Given the description of an element on the screen output the (x, y) to click on. 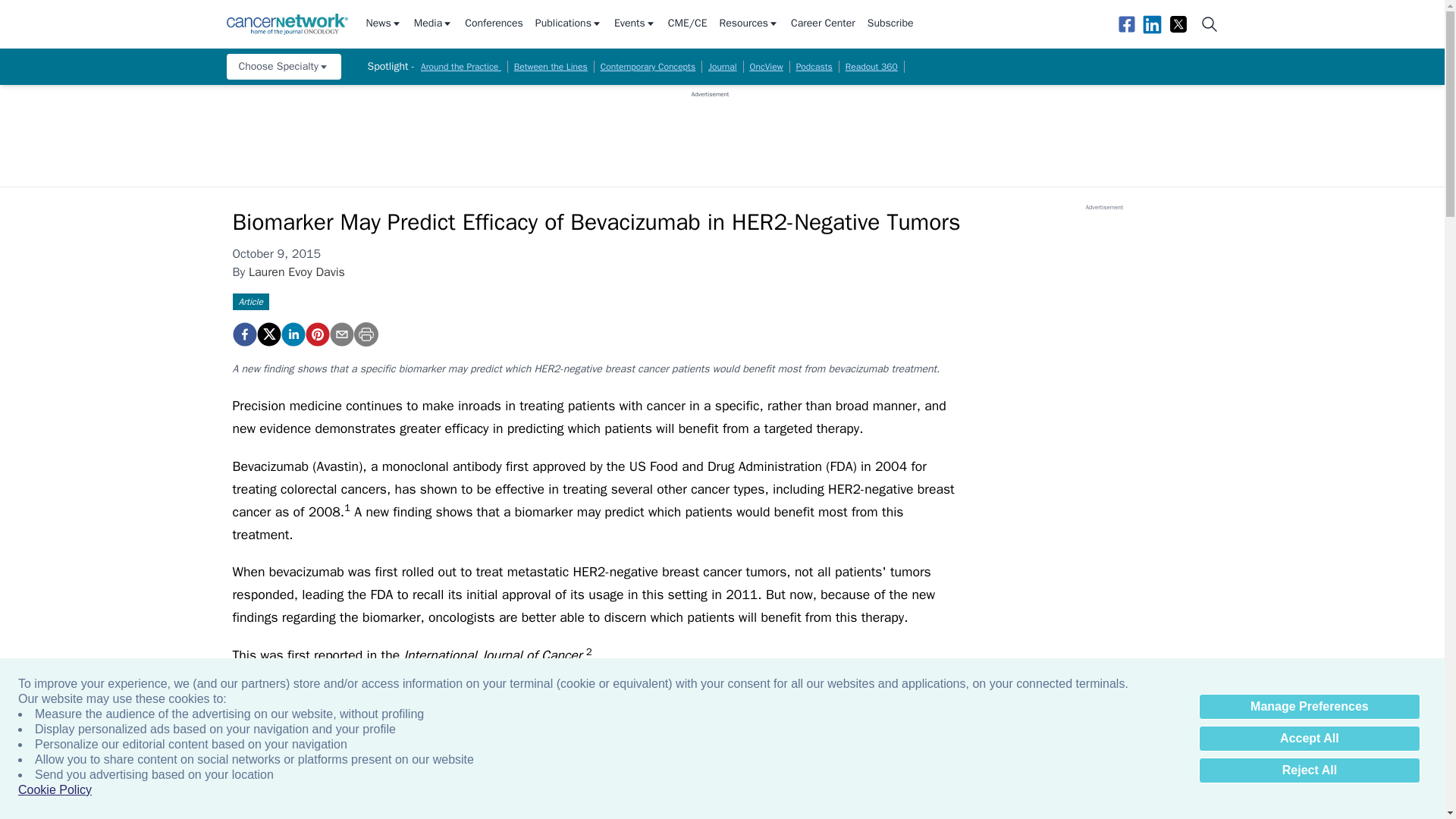
Manage Preferences (1309, 706)
News (383, 23)
Media (432, 23)
Publications (568, 23)
Conferences (493, 23)
Reject All (1309, 769)
Cookie Policy (54, 789)
3rd party ad content (710, 132)
Events (635, 23)
